Given the description of an element on the screen output the (x, y) to click on. 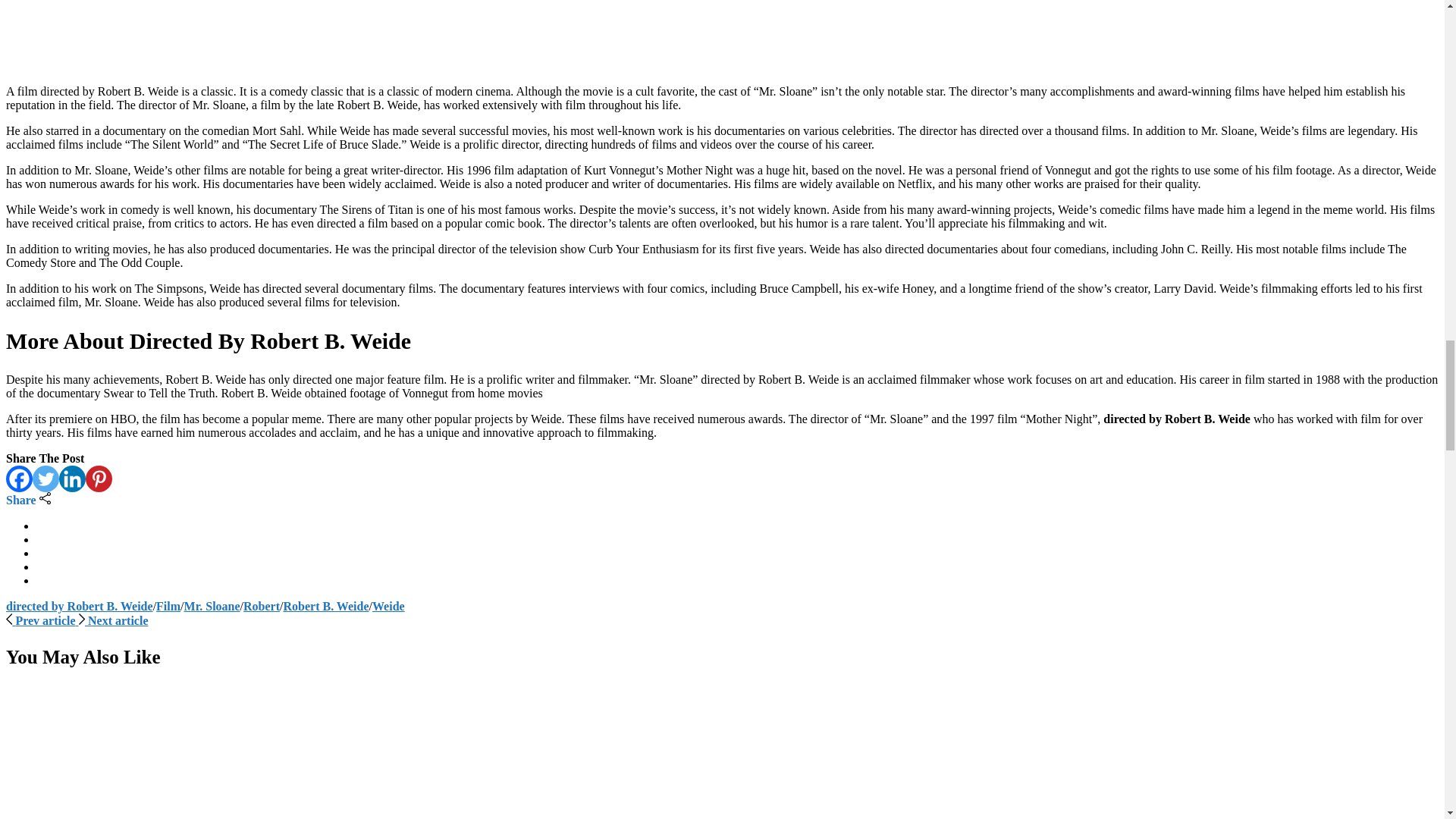
Twitter (45, 479)
Facebook (18, 479)
Linkedin (72, 479)
Pinterest (98, 479)
